Given the description of an element on the screen output the (x, y) to click on. 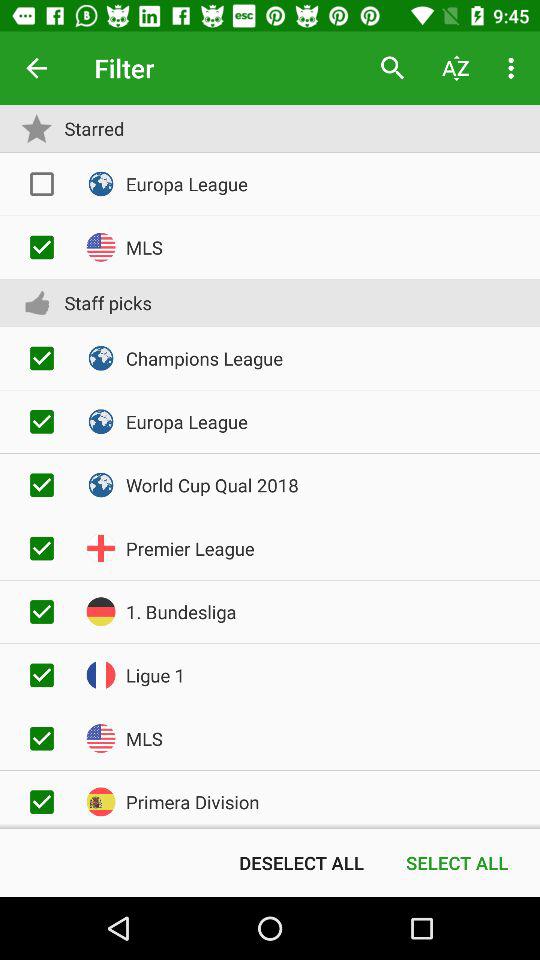
launch the item to the right of deselect all icon (457, 862)
